Given the description of an element on the screen output the (x, y) to click on. 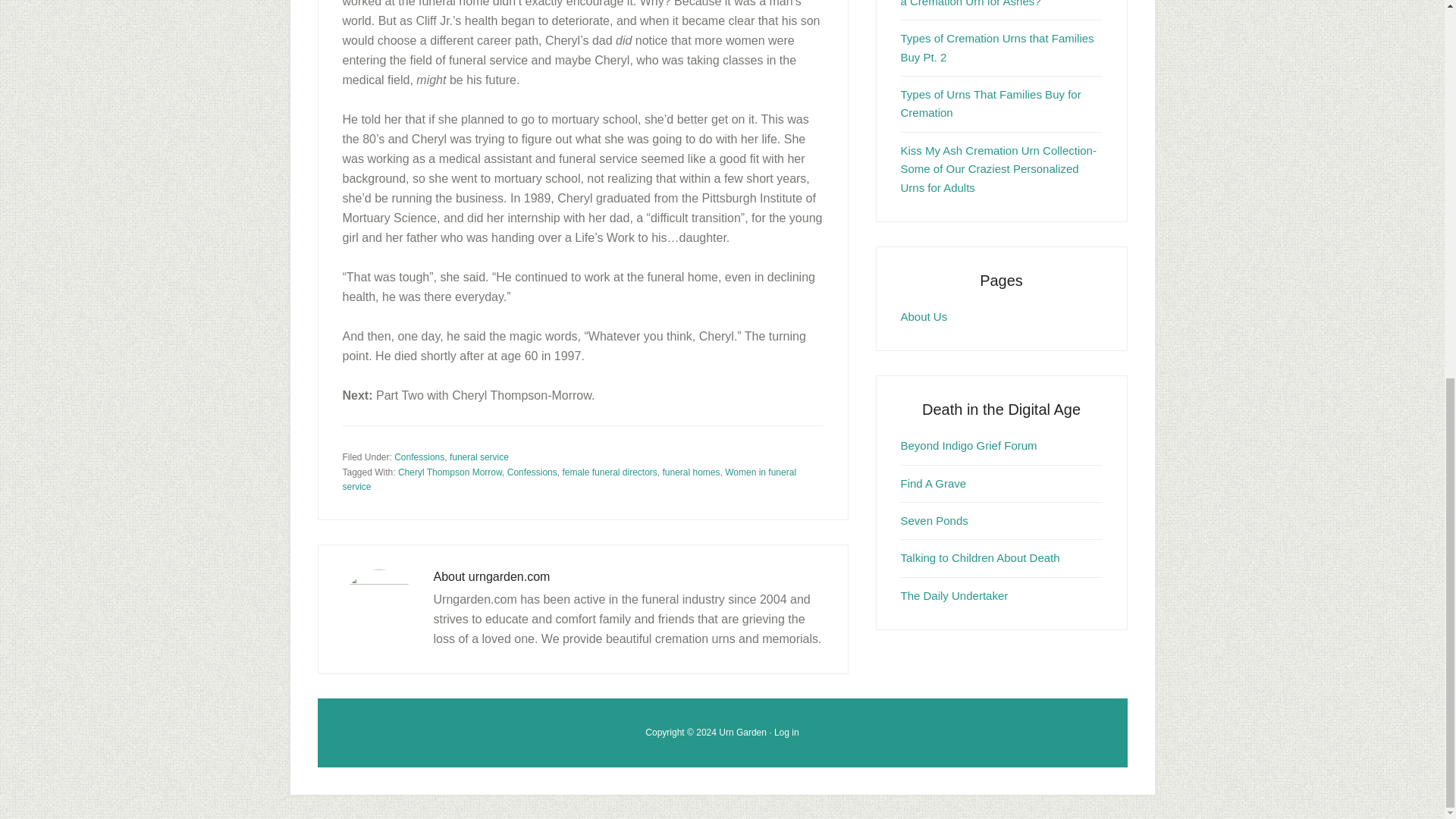
funeral service (478, 457)
Find A Grave (933, 482)
Seven Ponds (934, 520)
Cheryl Thompson Morrow (449, 471)
Talking to Children About Death (980, 557)
Confessions (419, 457)
Beyond Indigo Grief Forum (968, 445)
Types of Cremation Urns that Families Buy Pt. 2 (997, 47)
